Given the description of an element on the screen output the (x, y) to click on. 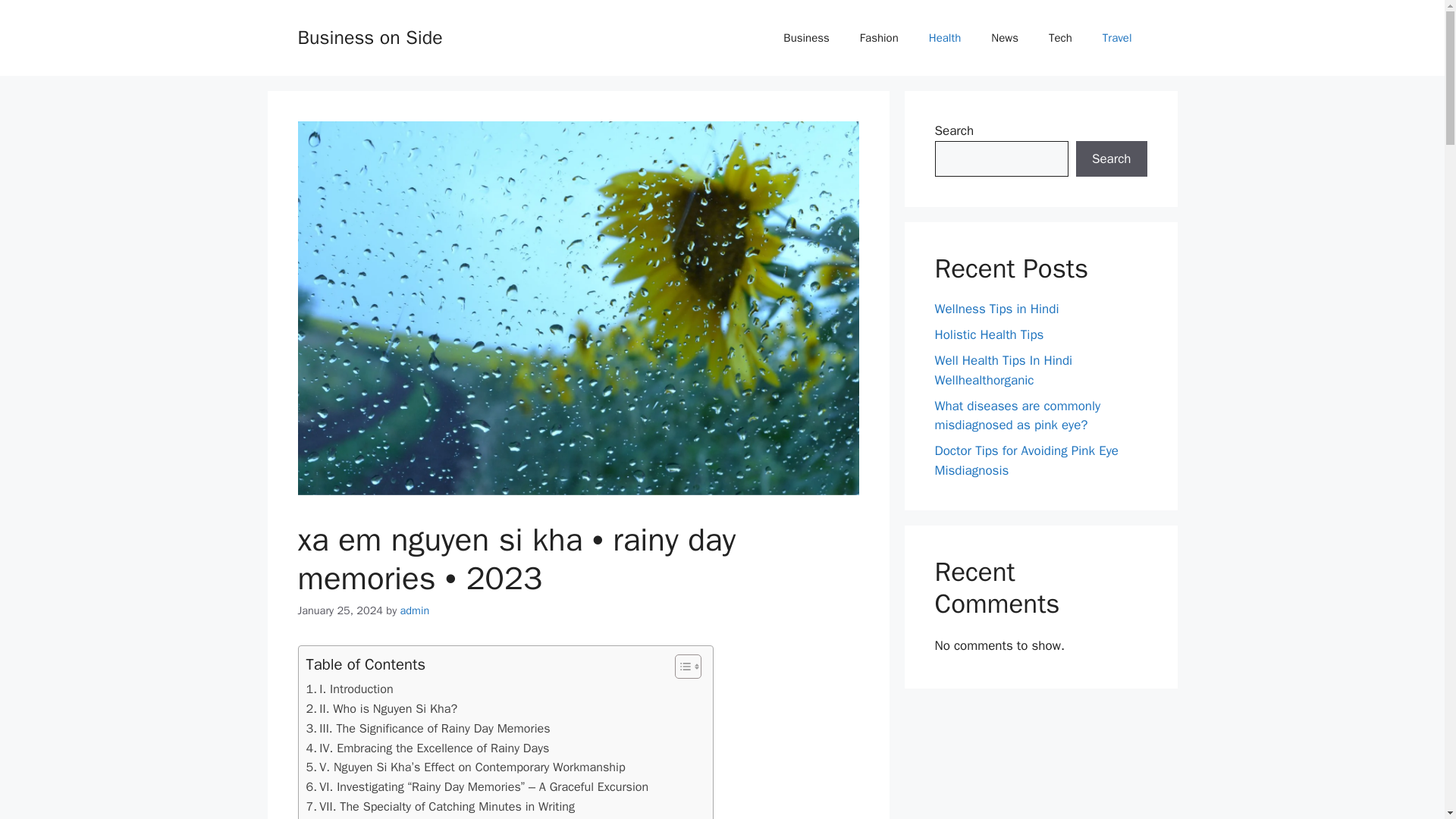
Business (806, 37)
III. The Significance of Rainy Day Memories (427, 728)
Tech (1060, 37)
I. Introduction (349, 689)
VII. The Specialty of Catching Minutes in Writing (440, 806)
Travel (1117, 37)
Health (945, 37)
III. The Significance of Rainy Day Memories (427, 728)
VII. The Specialty of Catching Minutes in Writing (440, 806)
IV. Embracing the Excellence of Rainy Days (427, 748)
